Given the description of an element on the screen output the (x, y) to click on. 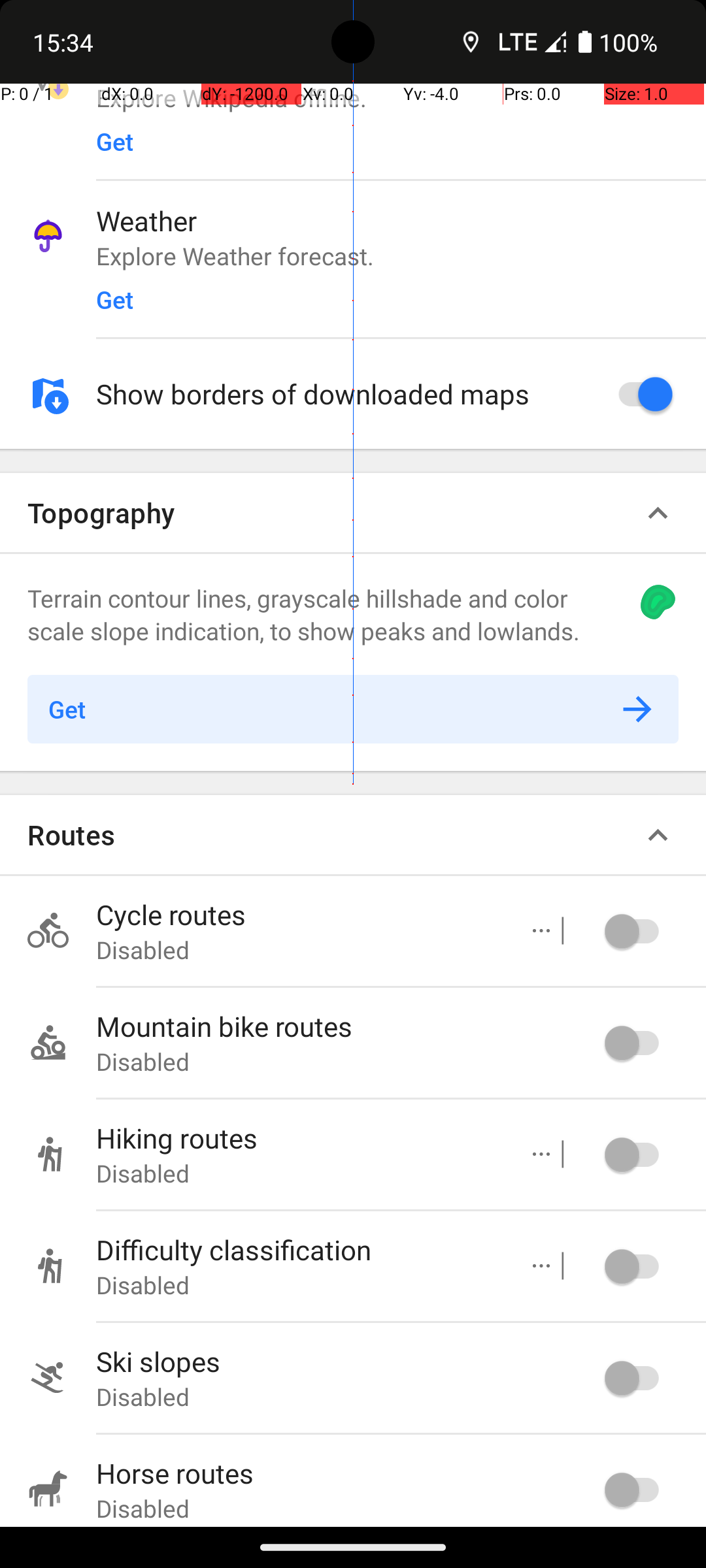
Terrain contour lines, grayscale hillshade and color scale slope indication, to show peaks and lowlands. Element type: android.widget.TextView (318, 614)
Explore Wikipedia offline. Element type: android.widget.TextView (401, 98)
Get Element type: android.widget.TextView (114, 151)
Weather Element type: android.widget.TextView (401, 220)
Explore Weather forecast. Element type: android.widget.TextView (401, 255)
Show borders of downloaded maps Element type: android.widget.TextView (346, 393)
Topography Element type: android.widget.TextView (101, 512)
Routes Element type: android.widget.TextView (71, 834)
Cycle routes Element type: android.widget.TextView (298, 913)
Disabled Element type: android.widget.TextView (298, 949)
Mountain bike routes Element type: android.widget.TextView (346, 1025)
Hiking routes Element type: android.widget.TextView (298, 1137)
Difficulty classification Element type: android.widget.TextView (298, 1249)
Ski slopes Element type: android.widget.TextView (346, 1360)
Horse routes Element type: android.widget.TextView (346, 1472)
